Given the description of an element on the screen output the (x, y) to click on. 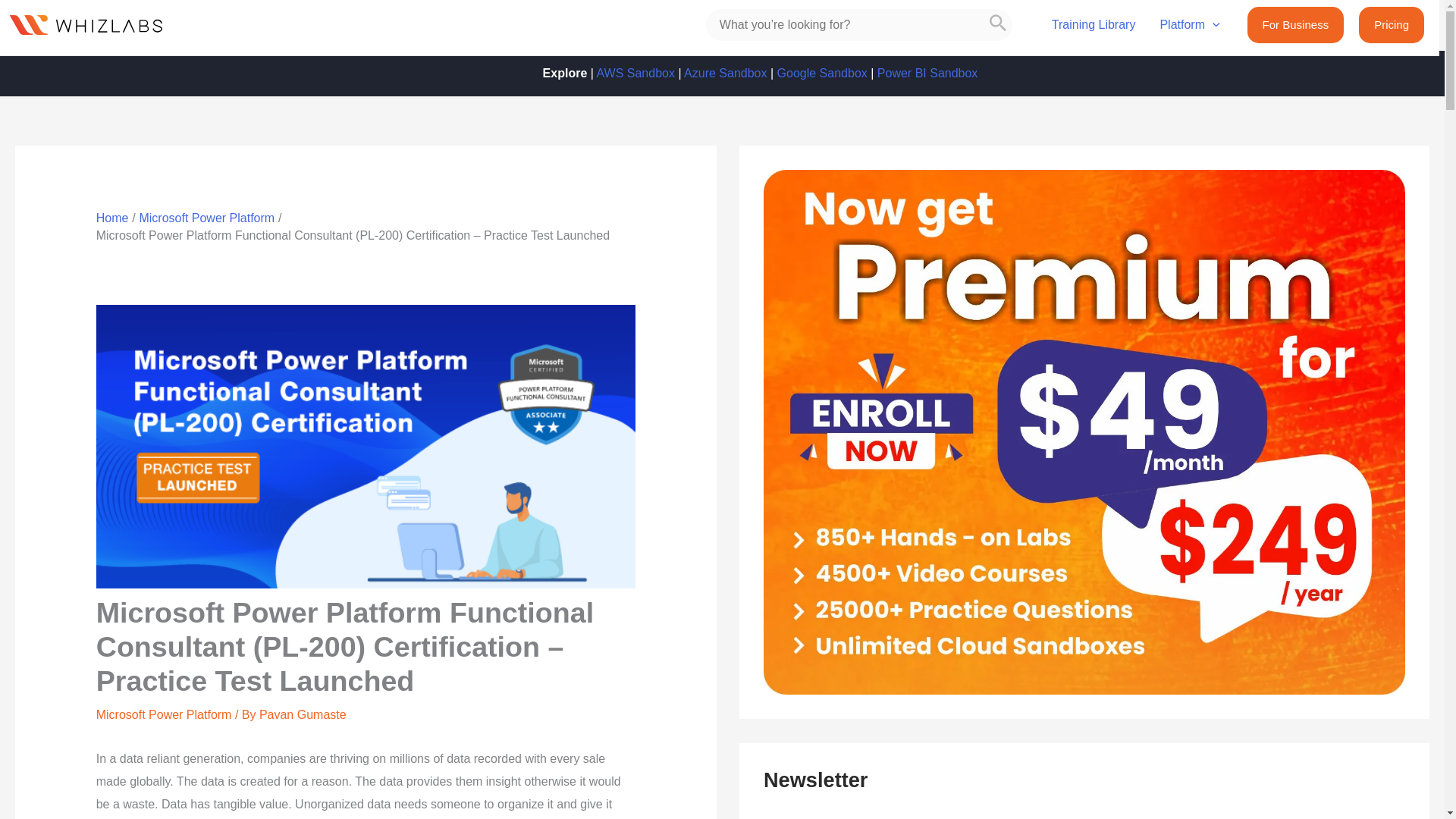
Search (997, 24)
For Business (1295, 24)
AWS Sandbox (634, 72)
Training Library (1093, 27)
Pricing (1390, 24)
Azure Sandbox (725, 72)
Microsoft Power Platform (163, 714)
Pavan Gumaste (302, 714)
Home (112, 217)
Microsoft Power Platform (206, 217)
View all posts by Pavan Gumaste (302, 714)
Power BI Sandbox (927, 72)
Google Sandbox (822, 72)
Training Library (1093, 27)
Platform (1189, 27)
